Given the description of an element on the screen output the (x, y) to click on. 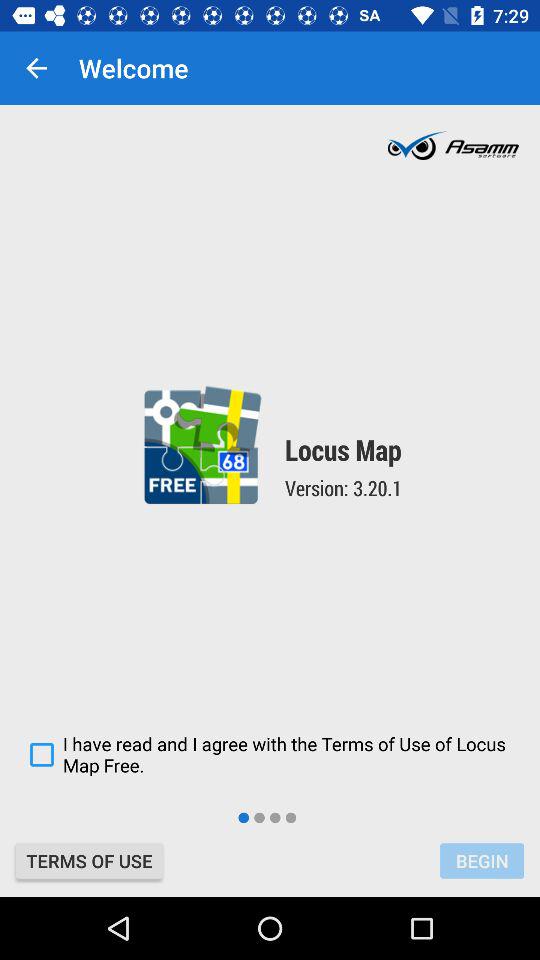
turn on the begin at the bottom right corner (482, 860)
